Given the description of an element on the screen output the (x, y) to click on. 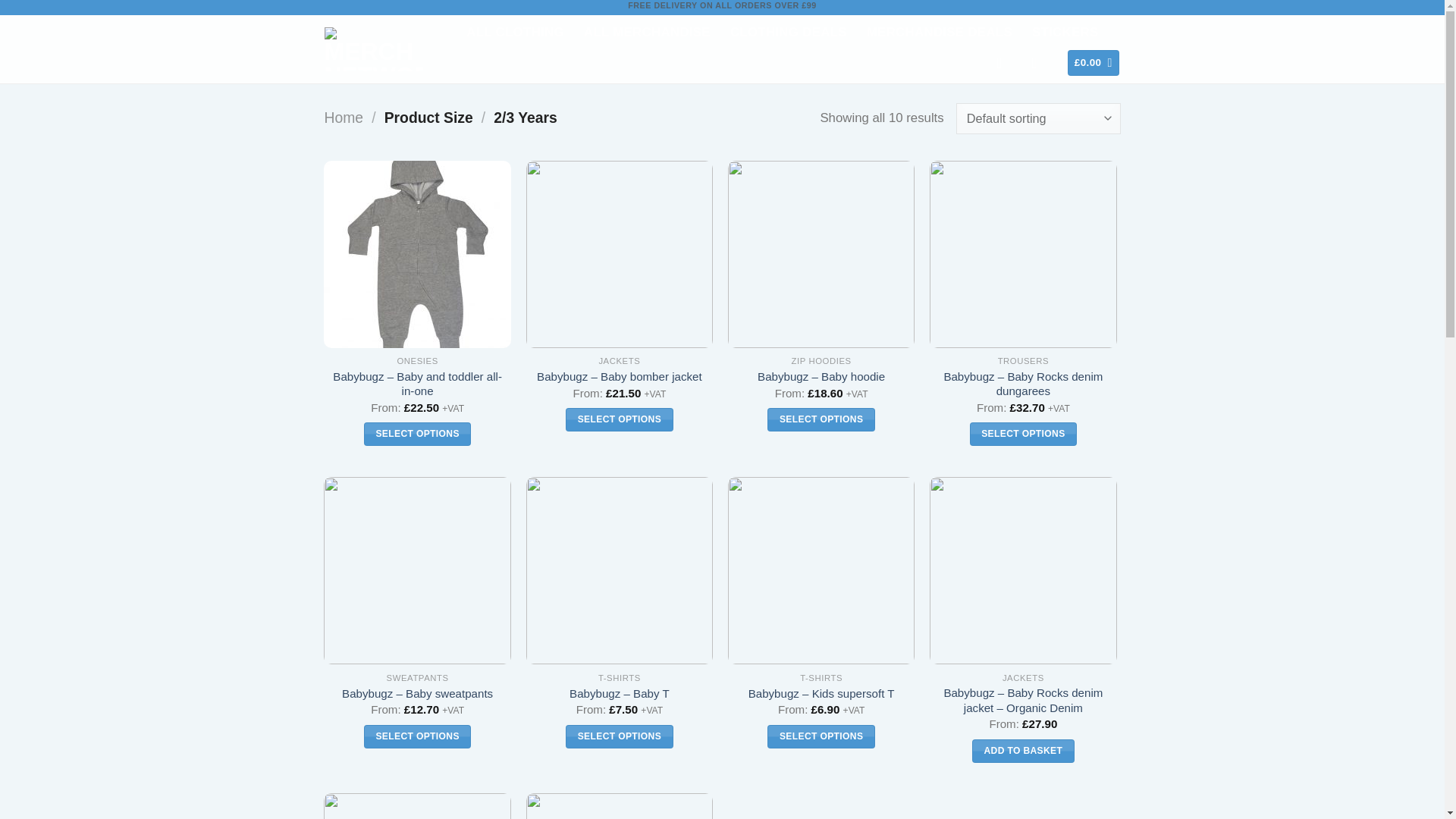
ADD TO BASKET (1023, 750)
ALL MERCHANDISE (646, 31)
Basket (1093, 62)
SELECT OPTIONS (821, 419)
CLOTHING DEALS (788, 31)
SELECT OPTIONS (417, 736)
STICKERS (1065, 31)
SELECT OPTIONS (619, 736)
ALL CLOTHING (514, 31)
SELECT OPTIONS (821, 736)
